Given the description of an element on the screen output the (x, y) to click on. 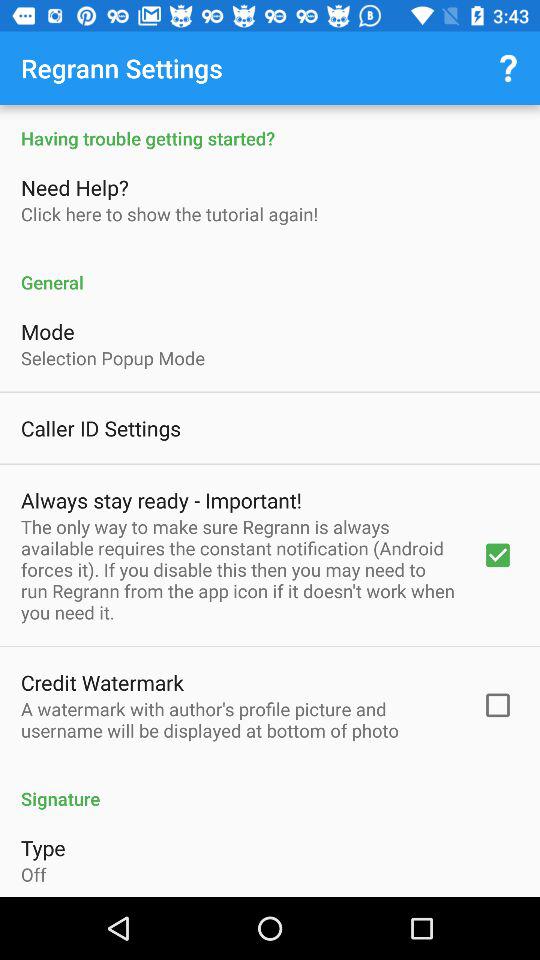
scroll until need help?  item (77, 187)
